Given the description of an element on the screen output the (x, y) to click on. 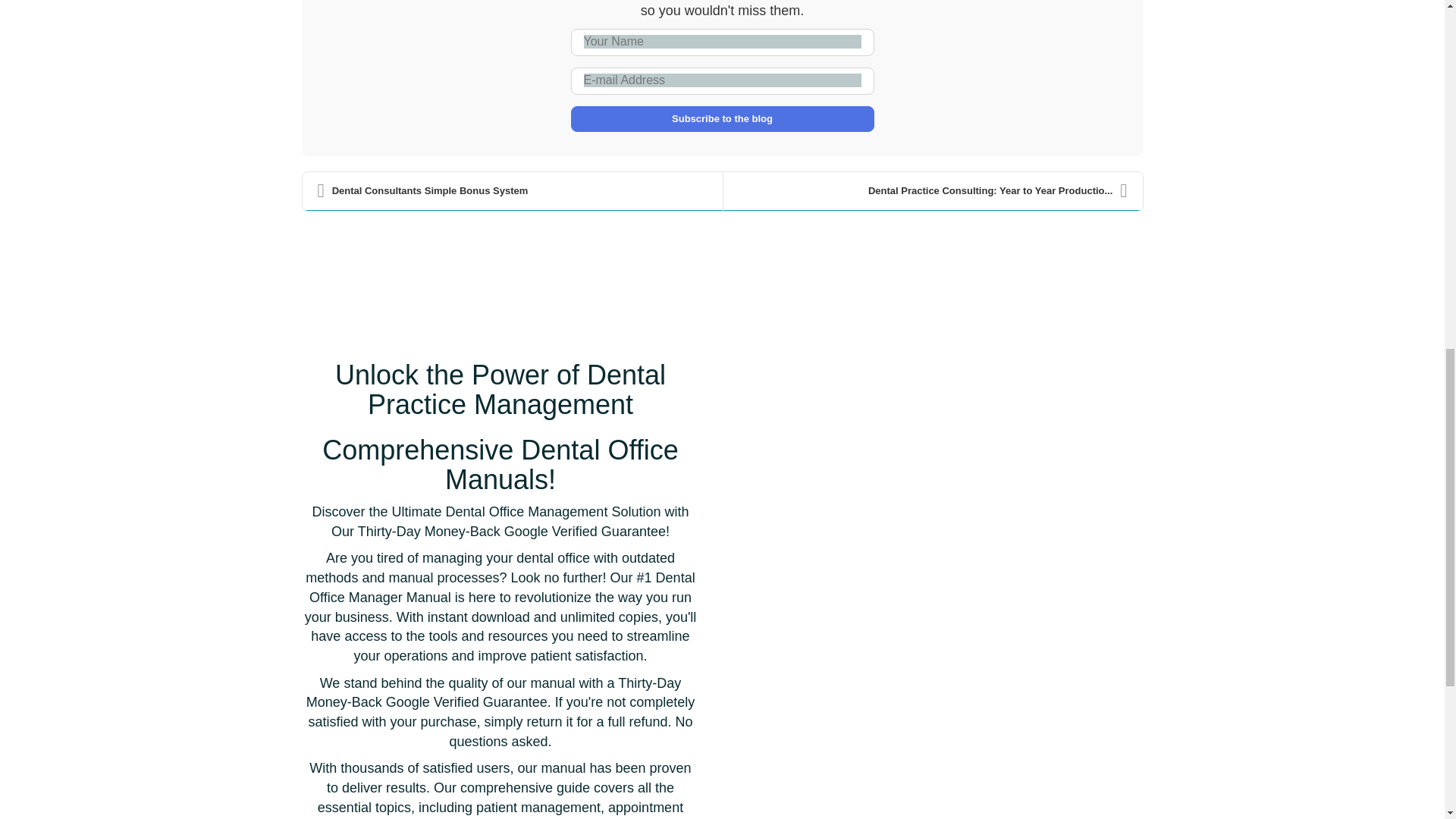
Subscribe to the blog (721, 118)
Dental Practice Consulting: Year to Year Productio... (932, 190)
Dental Consultants Simple Bonus System (511, 190)
